Given the description of an element on the screen output the (x, y) to click on. 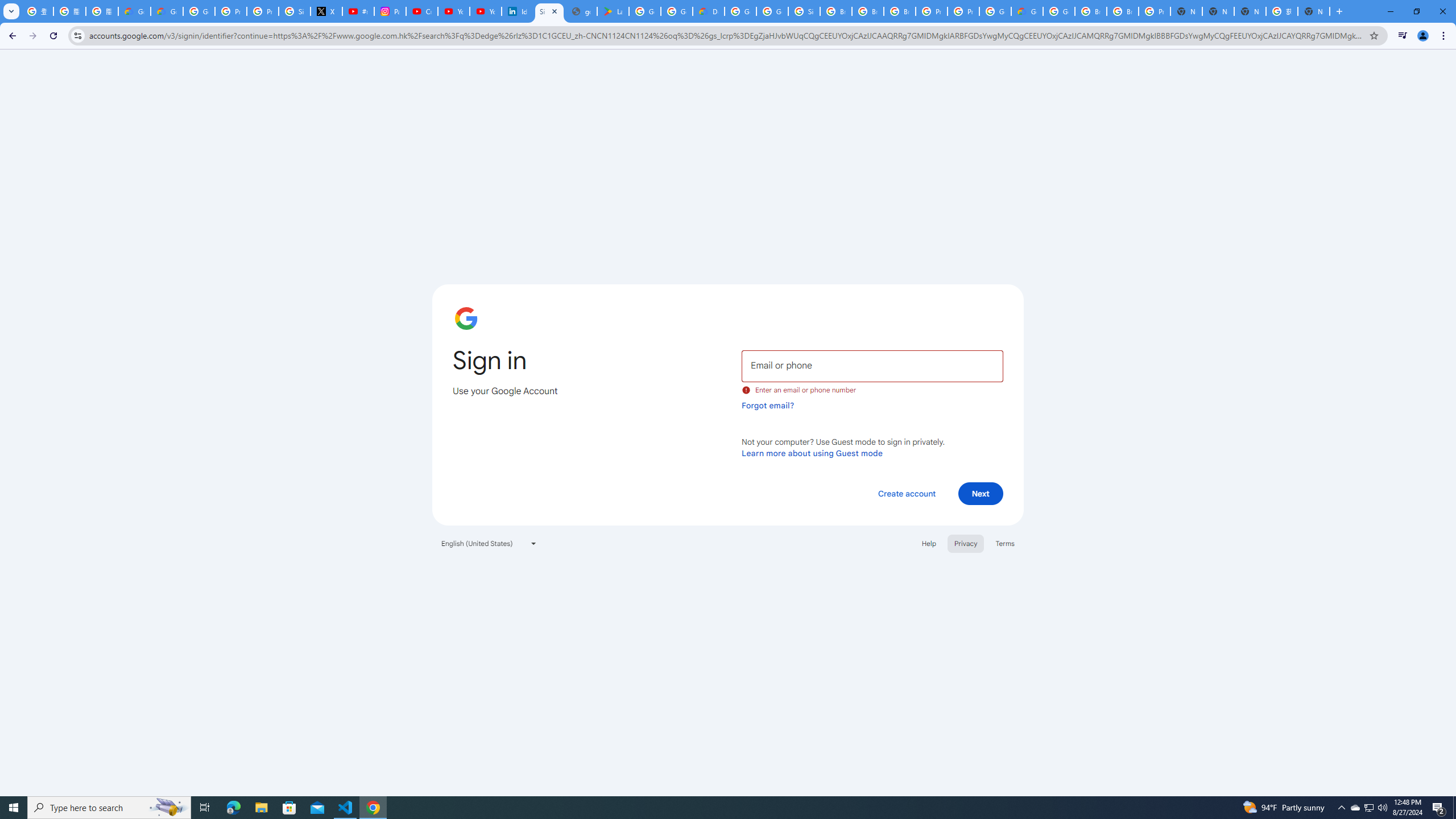
Browse Chrome as a guest - Computer - Google Chrome Help (836, 11)
Google Cloud Privacy Notice (166, 11)
Google Cloud Platform (1059, 11)
New Tab (1185, 11)
Google Cloud Estimate Summary (1027, 11)
